Given the description of an element on the screen output the (x, y) to click on. 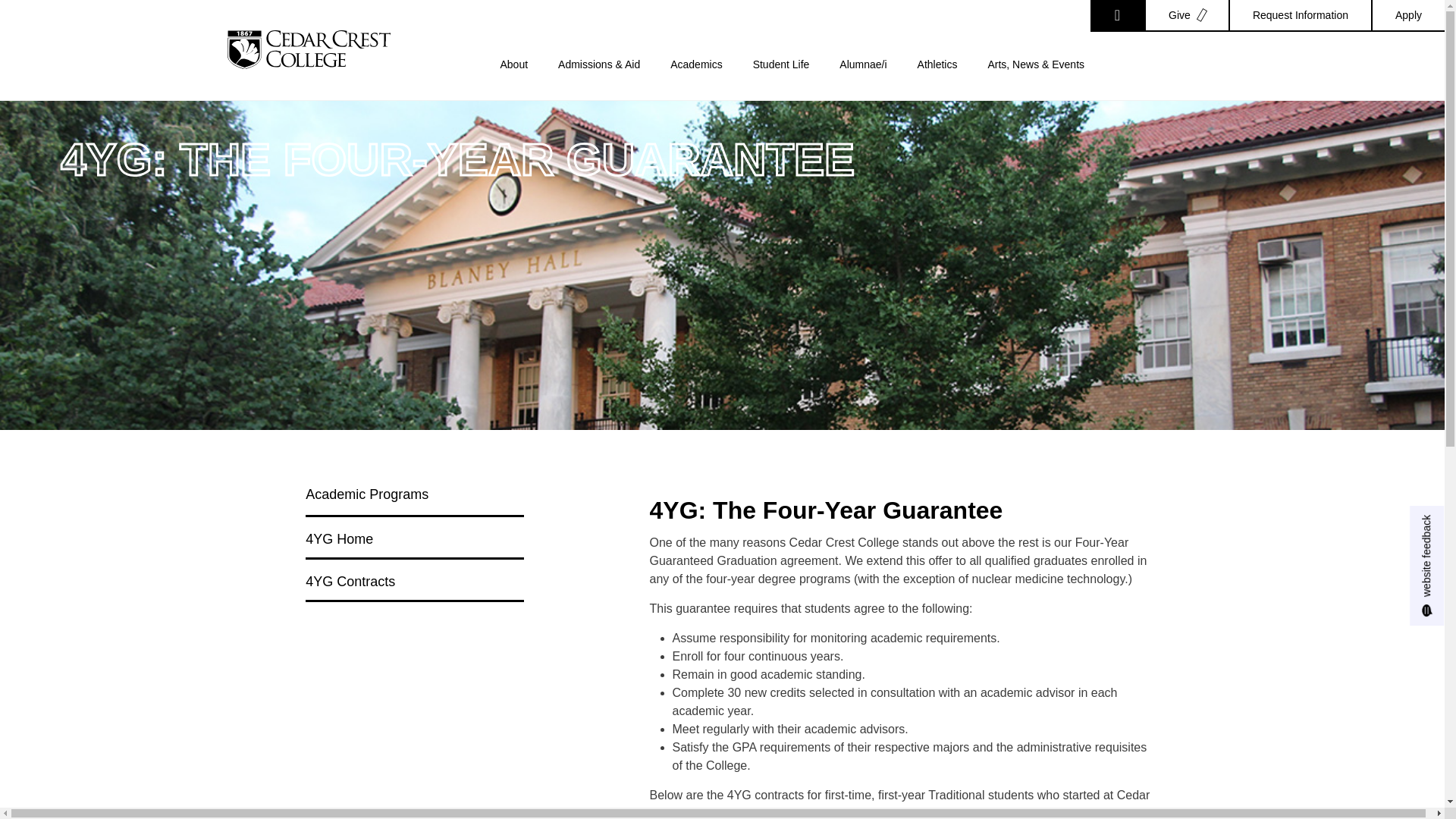
Search (1117, 15)
Athletics (937, 78)
Cedar Crest College (308, 49)
About (513, 78)
Academics (695, 78)
Student Life (781, 78)
